Given the description of an element on the screen output the (x, y) to click on. 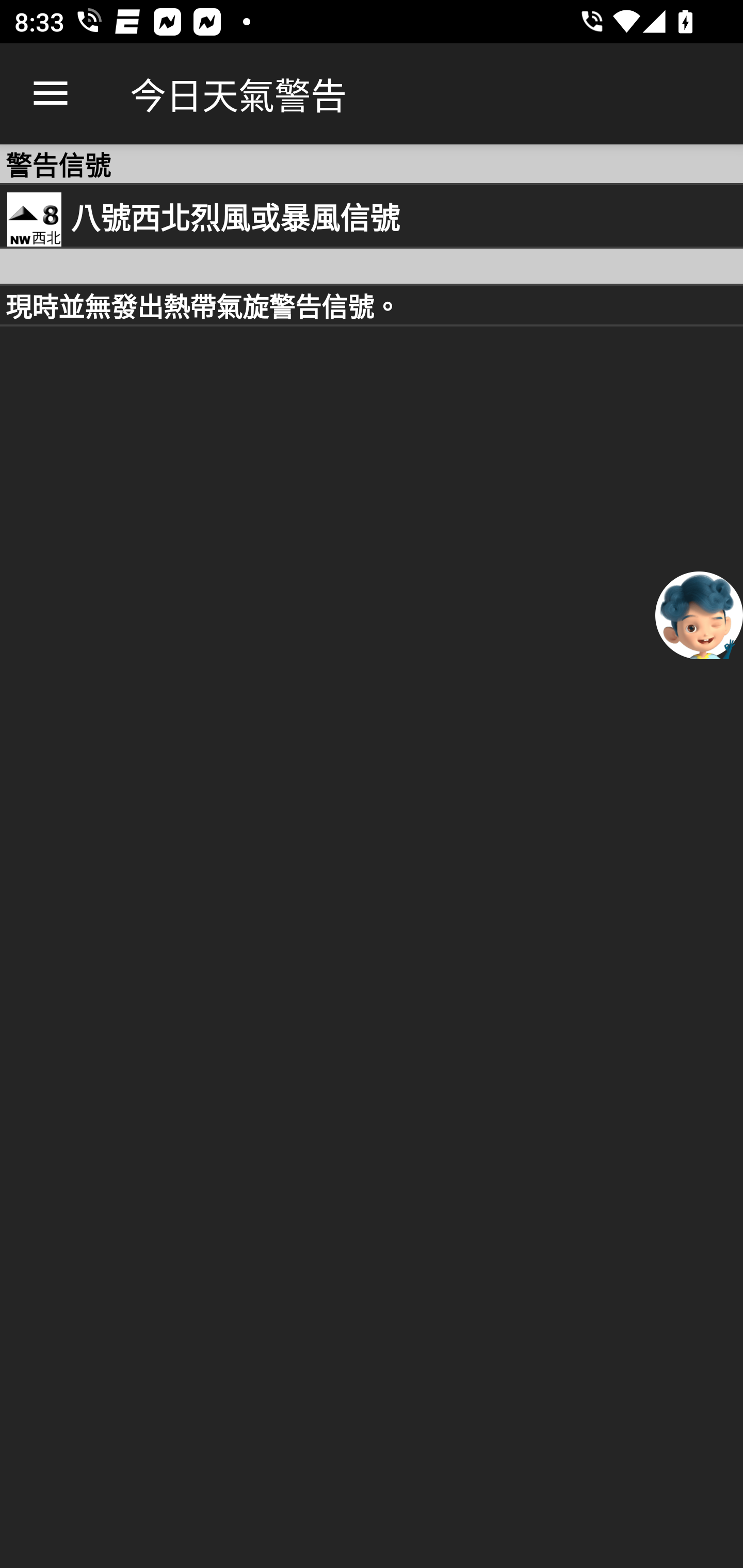
向上瀏覽 (50, 93)
警告信號 (371, 163)
八號西北烈風或暴風信號 (371, 215)
現時並無發出熱帶氣旋警告信號。 (371, 304)
聊天機械人 (699, 614)
